Given the description of an element on the screen output the (x, y) to click on. 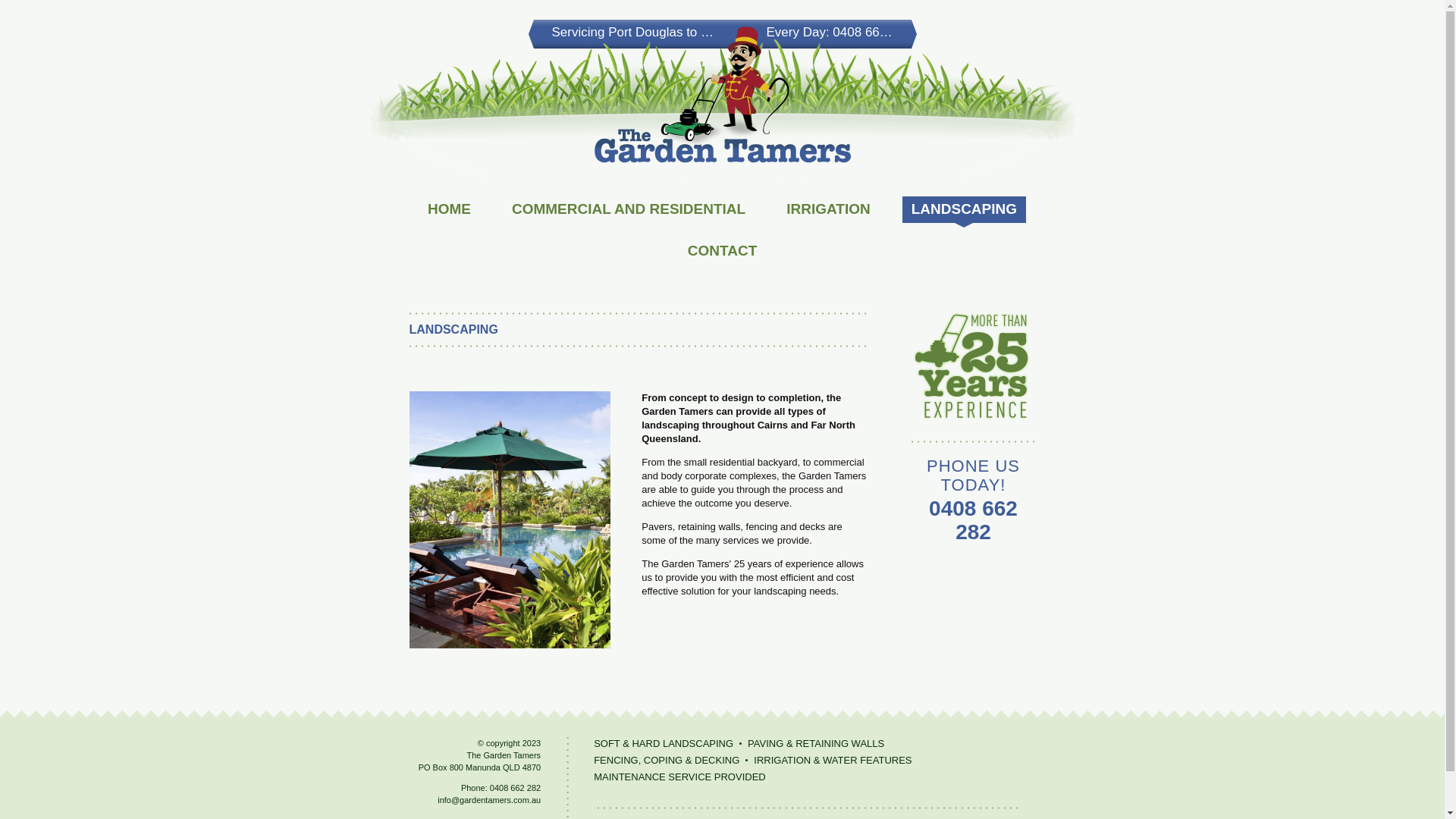
IRRIGATION Element type: text (827, 209)
0408 662 282 Element type: text (514, 787)
CONTACT Element type: text (721, 251)
HOME Element type: text (449, 209)
Servicing Port Douglas to Gordonvale Element type: text (659, 32)
info@gardentamers.com.au Element type: text (488, 799)
0408 662 282 Element type: text (871, 32)
LANDSCAPING Element type: text (964, 209)
0408 662 282 Element type: text (973, 519)
COMMERCIAL AND RESIDENTIAL Element type: text (628, 209)
landcsaping cairns, pic 3 Element type: hover (510, 519)
